Given the description of an element on the screen output the (x, y) to click on. 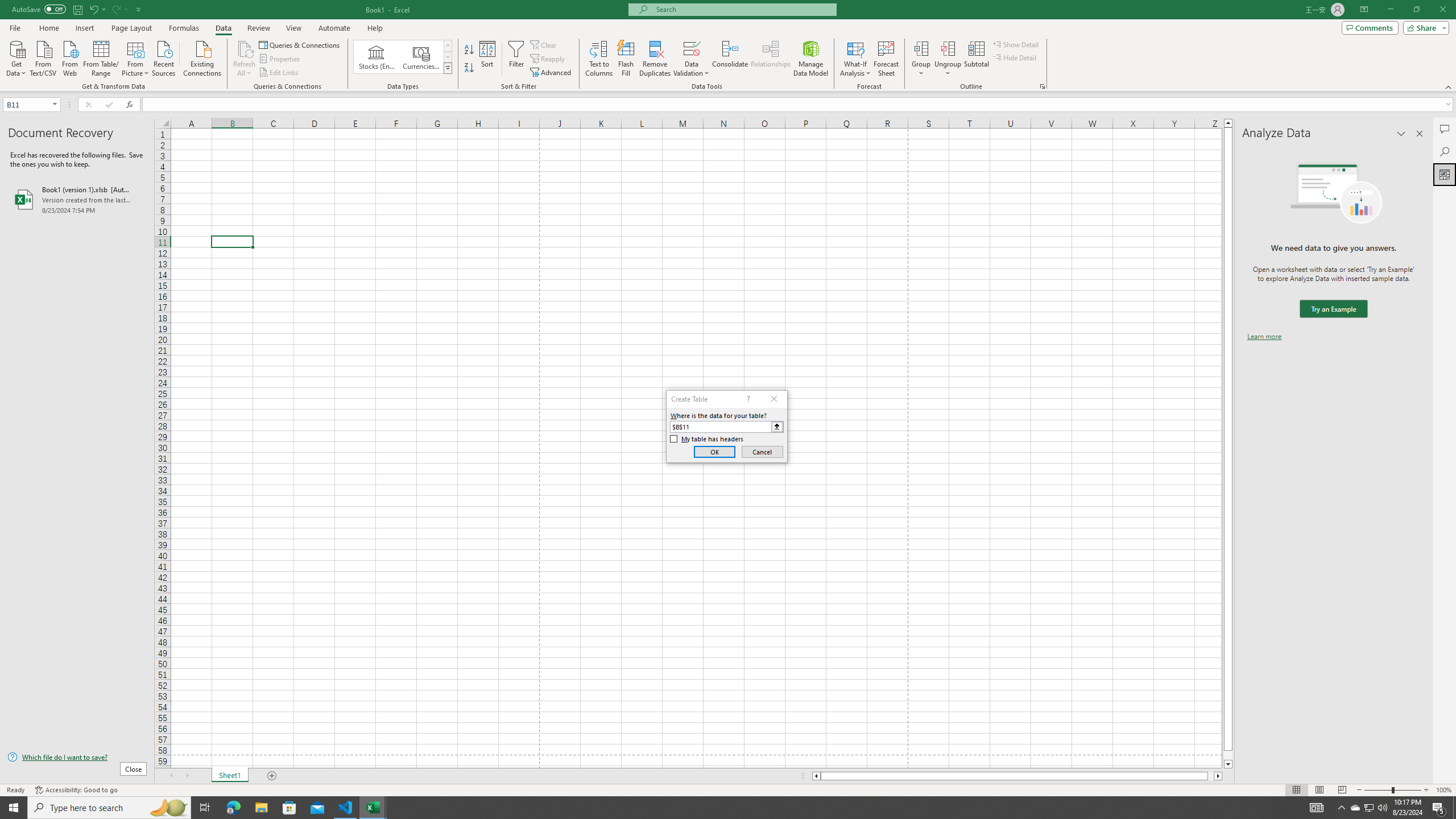
AutoSave (38, 9)
Data Types (448, 67)
Close pane (1419, 133)
Book1 (version 1).xlsb  [AutoRecovered] (77, 199)
Remove Duplicates (654, 58)
Ungroup... (947, 58)
Restore Down (1416, 9)
Currencies (English) (420, 56)
